Given the description of an element on the screen output the (x, y) to click on. 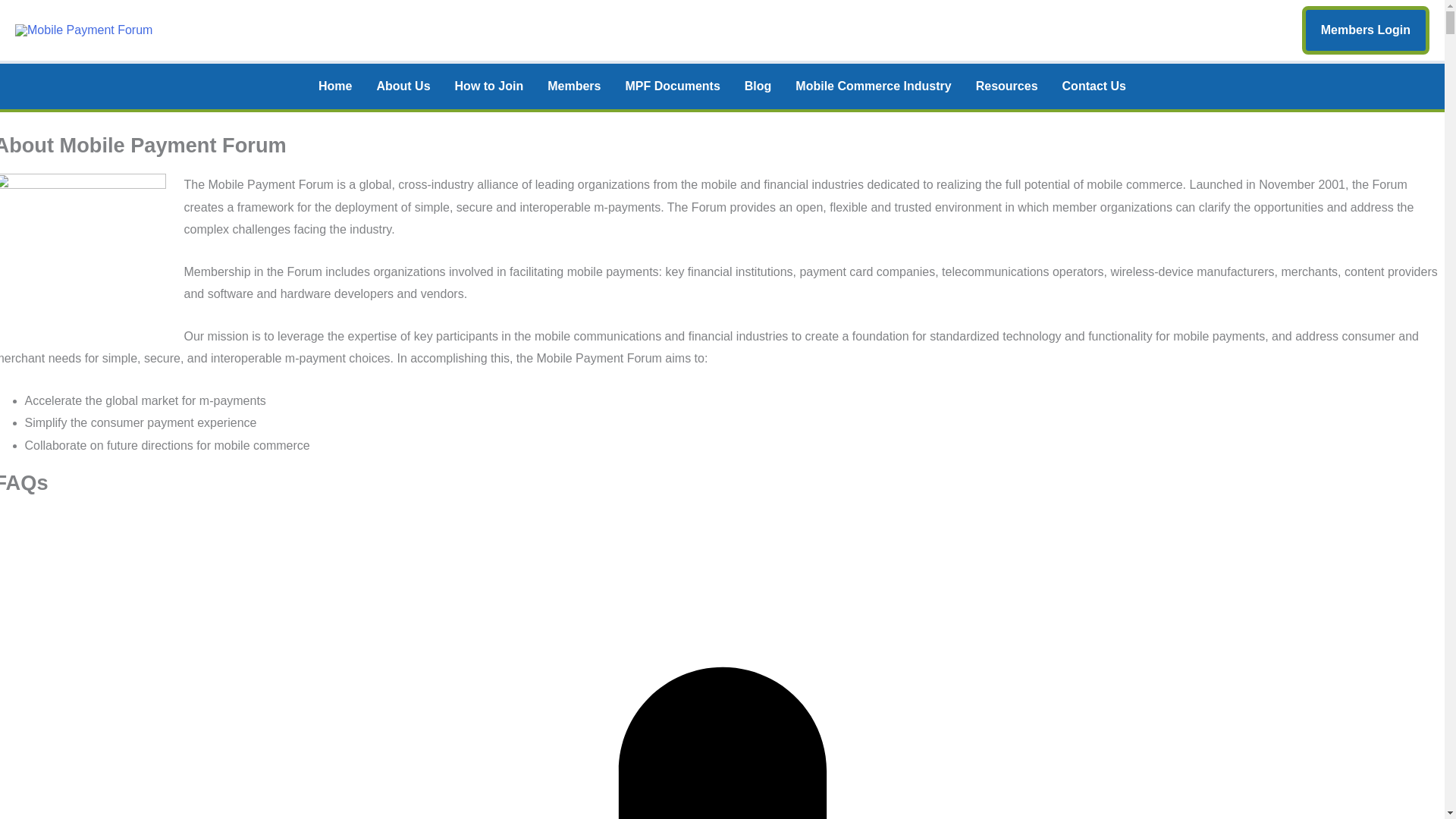
Blog (758, 85)
MPF Documents (672, 85)
Home (334, 85)
Mobile Commerce Industry (872, 85)
Contact Us (1093, 85)
Resources (1006, 85)
How to Join (488, 85)
About Us (403, 85)
Members Login (1365, 29)
Members (573, 85)
